Given the description of an element on the screen output the (x, y) to click on. 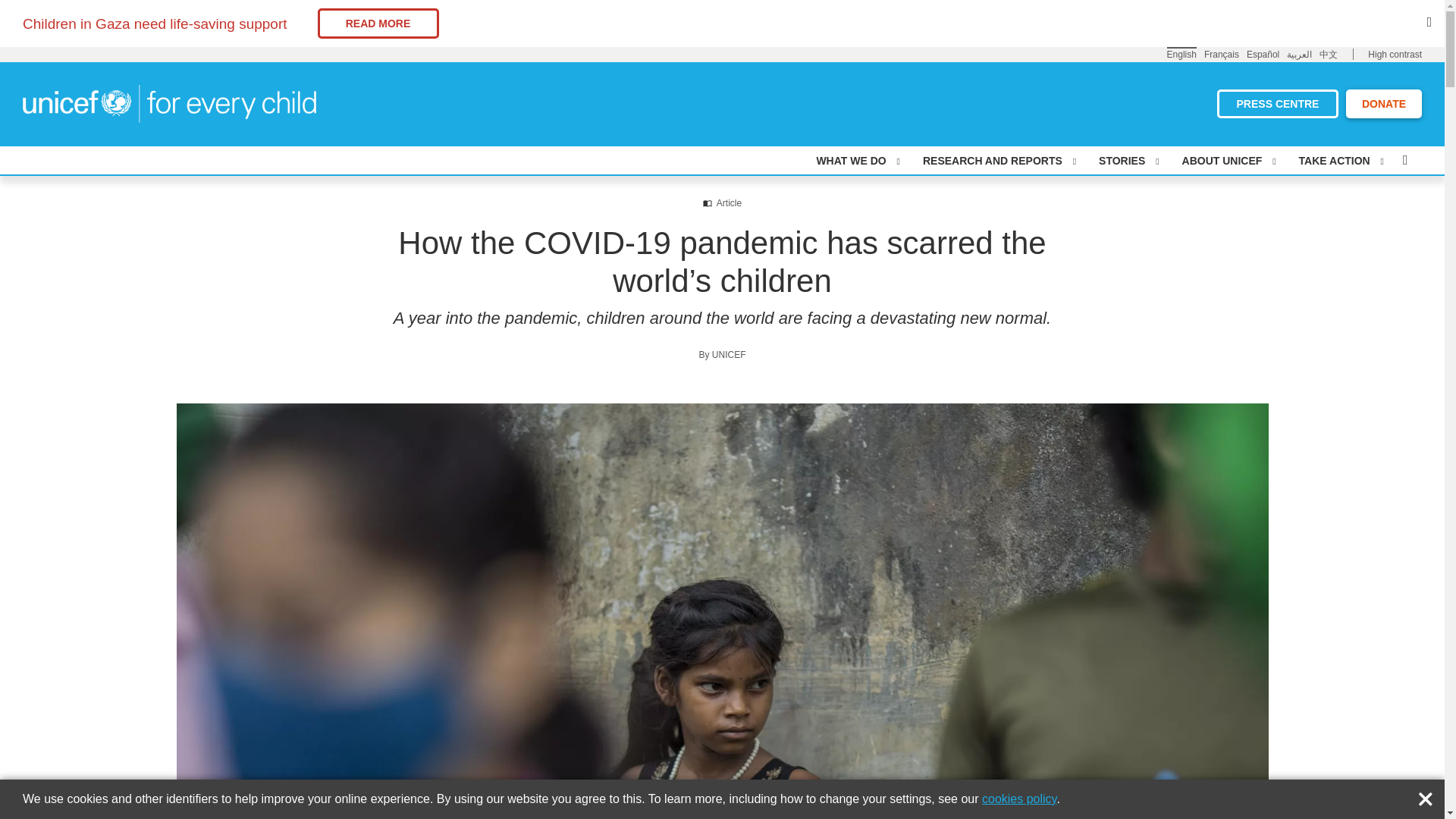
WHAT WE DO (857, 161)
READ MORE (378, 23)
High contrast (1395, 54)
DONATE (1383, 103)
UNICEF (169, 102)
Ok (1428, 794)
PRESS CENTRE (1277, 103)
cookies policy (1019, 798)
English (1181, 53)
